Given the description of an element on the screen output the (x, y) to click on. 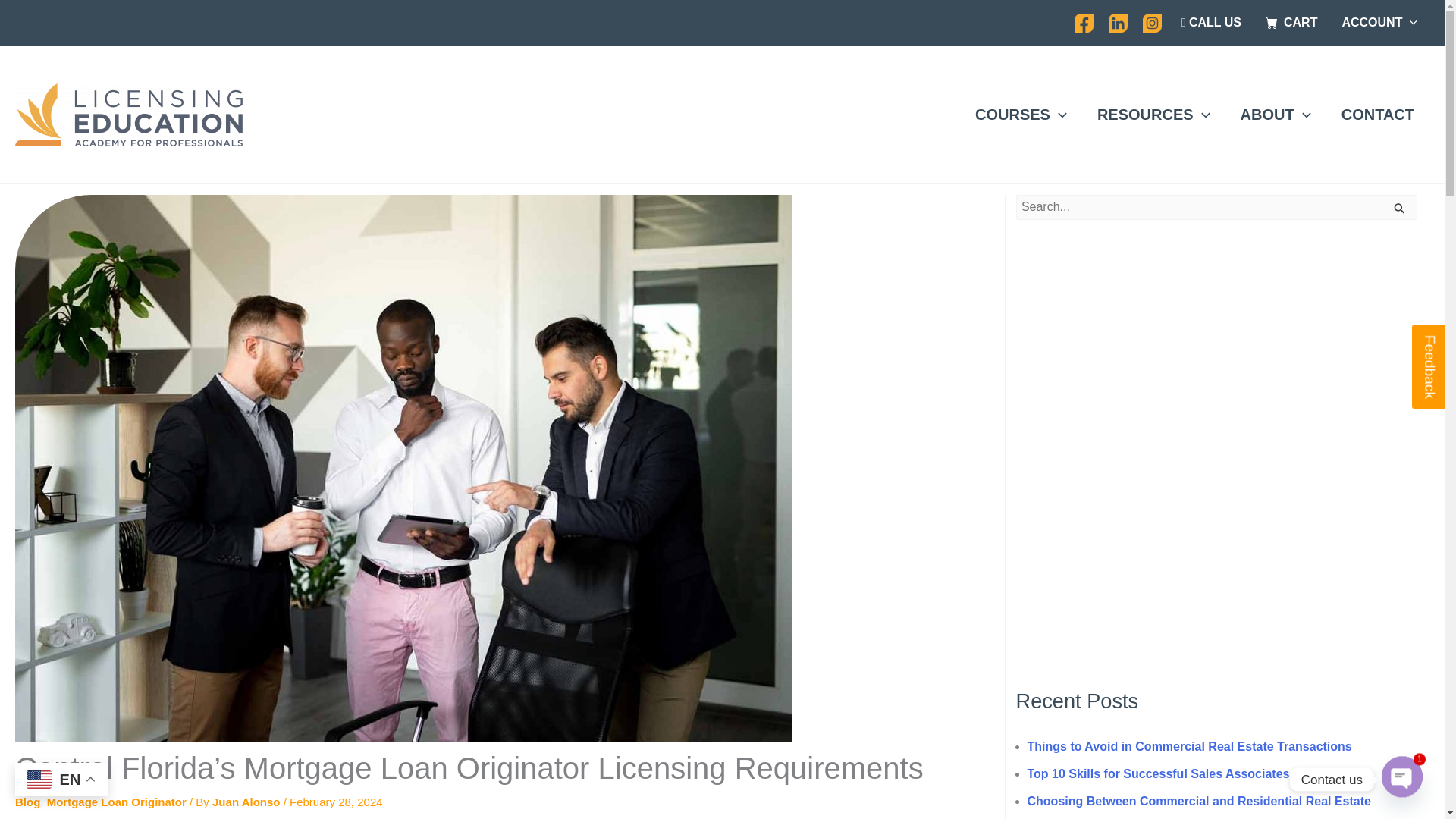
ACCOUNT (1379, 22)
COURSES (1020, 113)
View all posts by Juan Alonso (247, 801)
 CALL US (1211, 22)
CART (1291, 22)
